Given the description of an element on the screen output the (x, y) to click on. 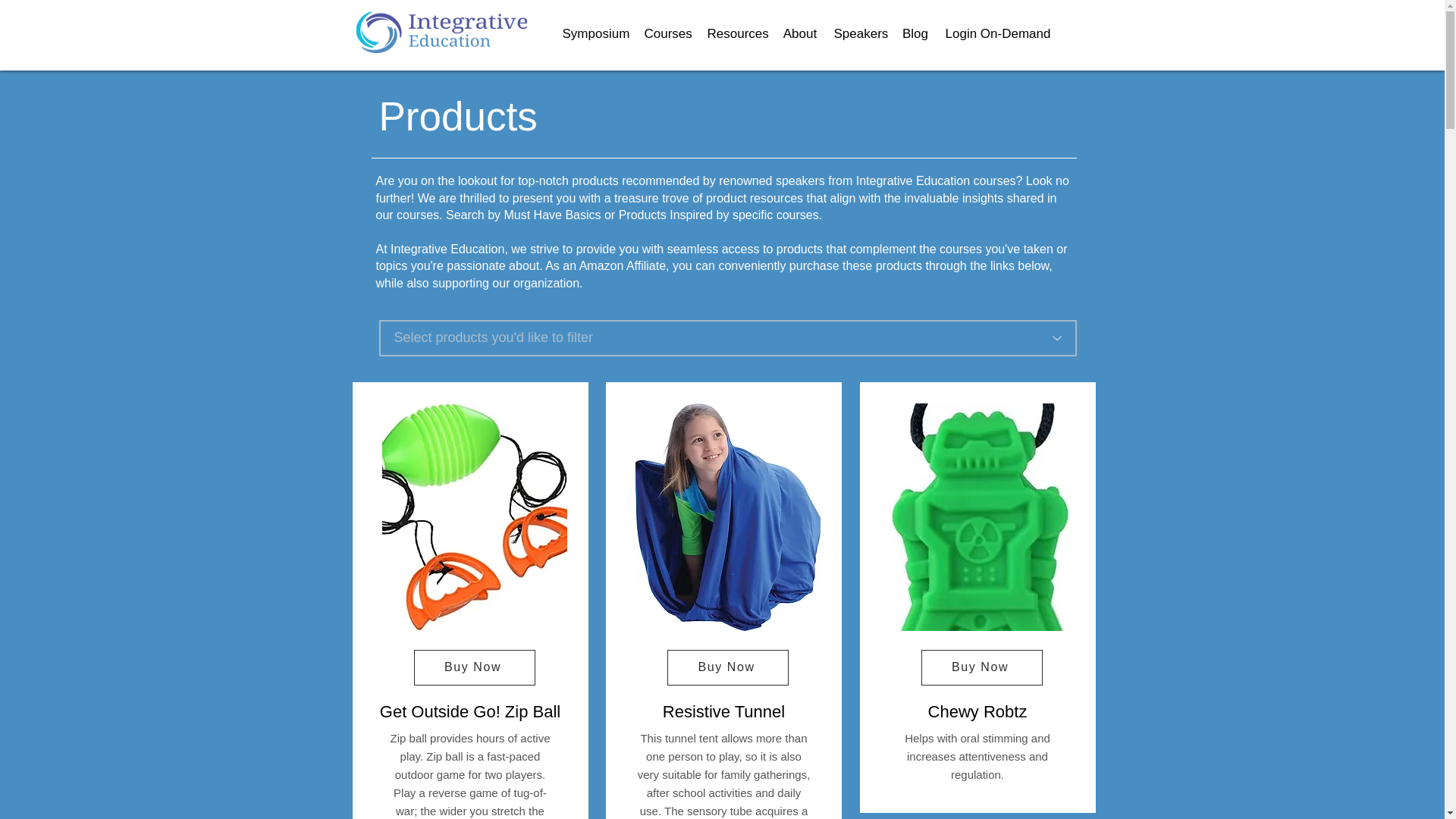
About (799, 33)
Courses (668, 33)
Blog (914, 33)
Buy Now (727, 667)
Buy Now (474, 667)
Login On-Demand (998, 33)
Speakers (860, 33)
Symposium (595, 33)
Resources (735, 33)
